Given the description of an element on the screen output the (x, y) to click on. 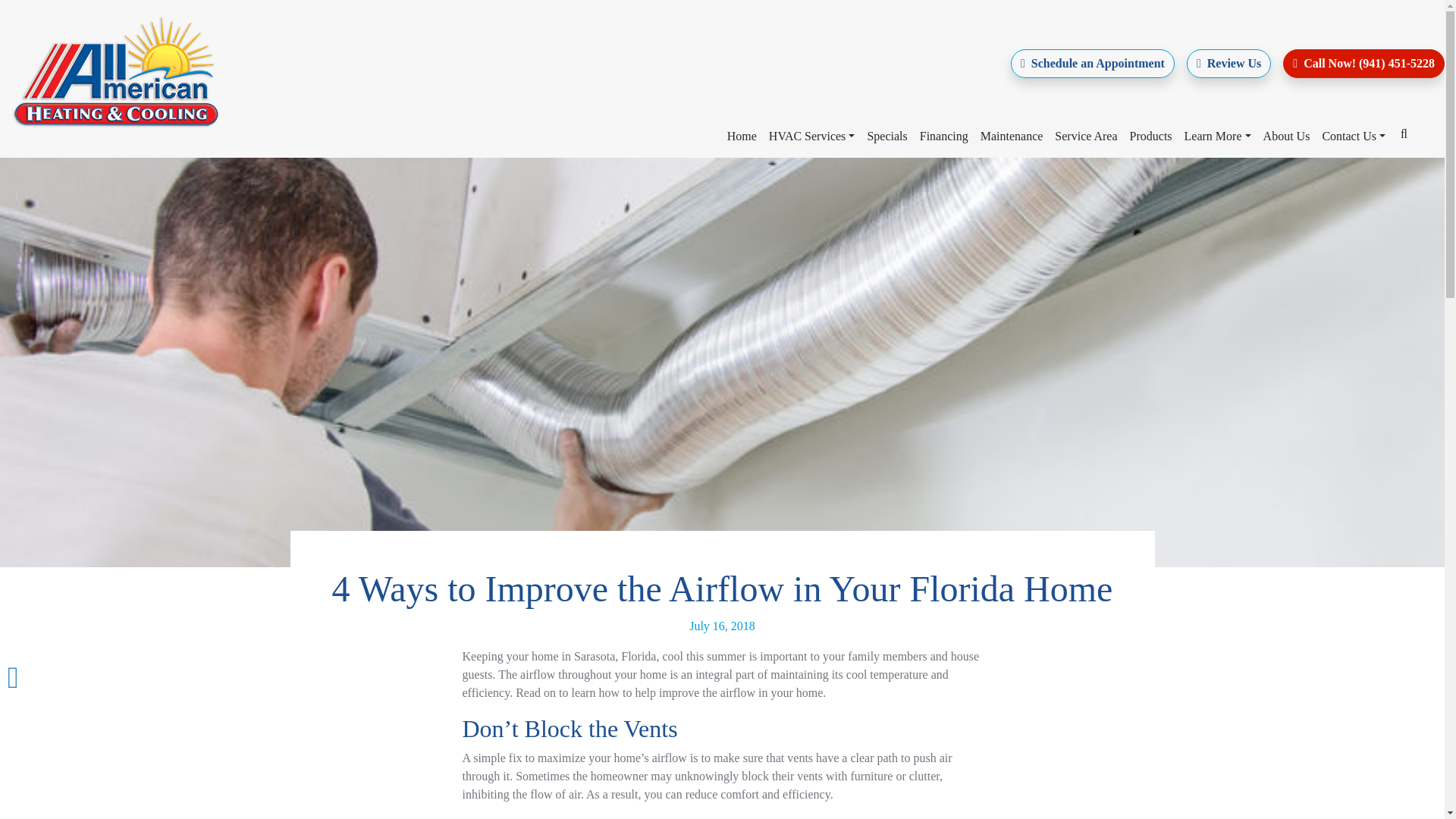
HVAC Services (811, 136)
Home (741, 136)
Learn More (1217, 136)
Review Us (1228, 63)
Contact Us (1353, 136)
Schedule an Appointment (1092, 63)
Specials (886, 136)
Financing (944, 136)
About Us (1286, 136)
Maintenance (1011, 136)
